Given the description of an element on the screen output the (x, y) to click on. 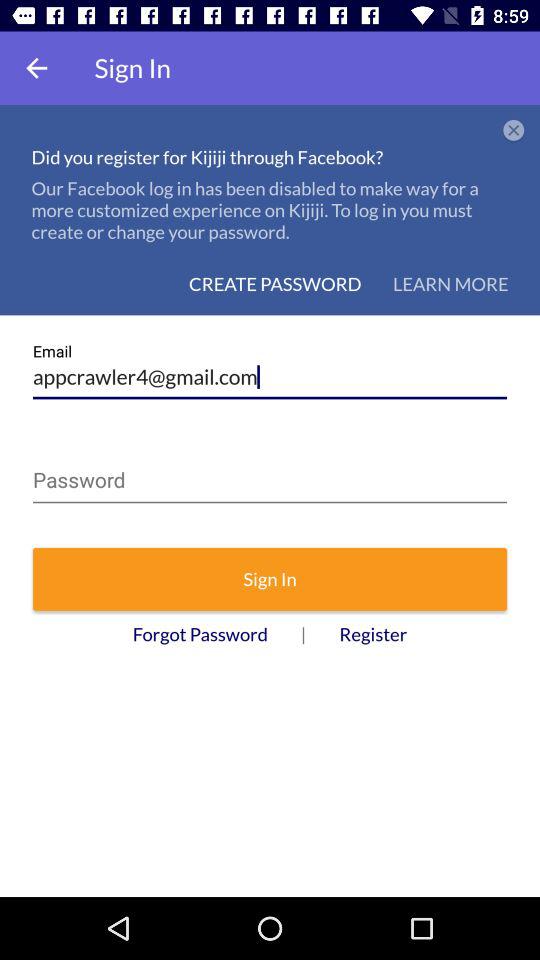
press the icon above the appcrawler4@gmail.com (450, 283)
